Given the description of an element on the screen output the (x, y) to click on. 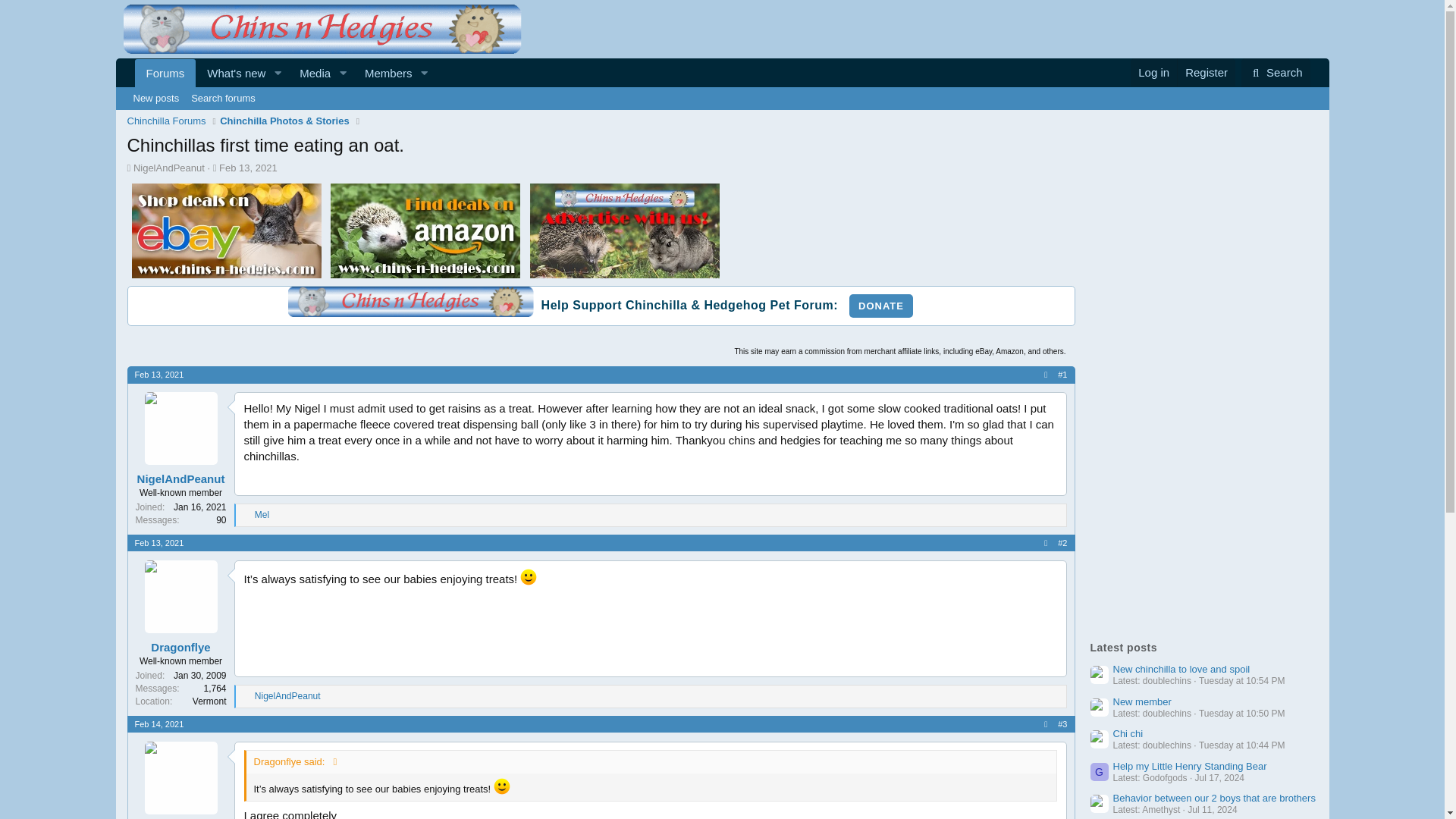
Jul 17, 2024 at 4:20 PM (1219, 777)
Feb 13, 2021 (248, 167)
Jul 30, 2024 at 10:54 PM (1241, 680)
What's new (230, 72)
New posts (285, 72)
Chinchilla Forums (157, 97)
Search forums (285, 72)
Donate (167, 120)
Feb 13, 2021 at 9:59 AM (223, 97)
Members (880, 306)
Like (159, 542)
Media (383, 72)
Forums (245, 515)
